Given the description of an element on the screen output the (x, y) to click on. 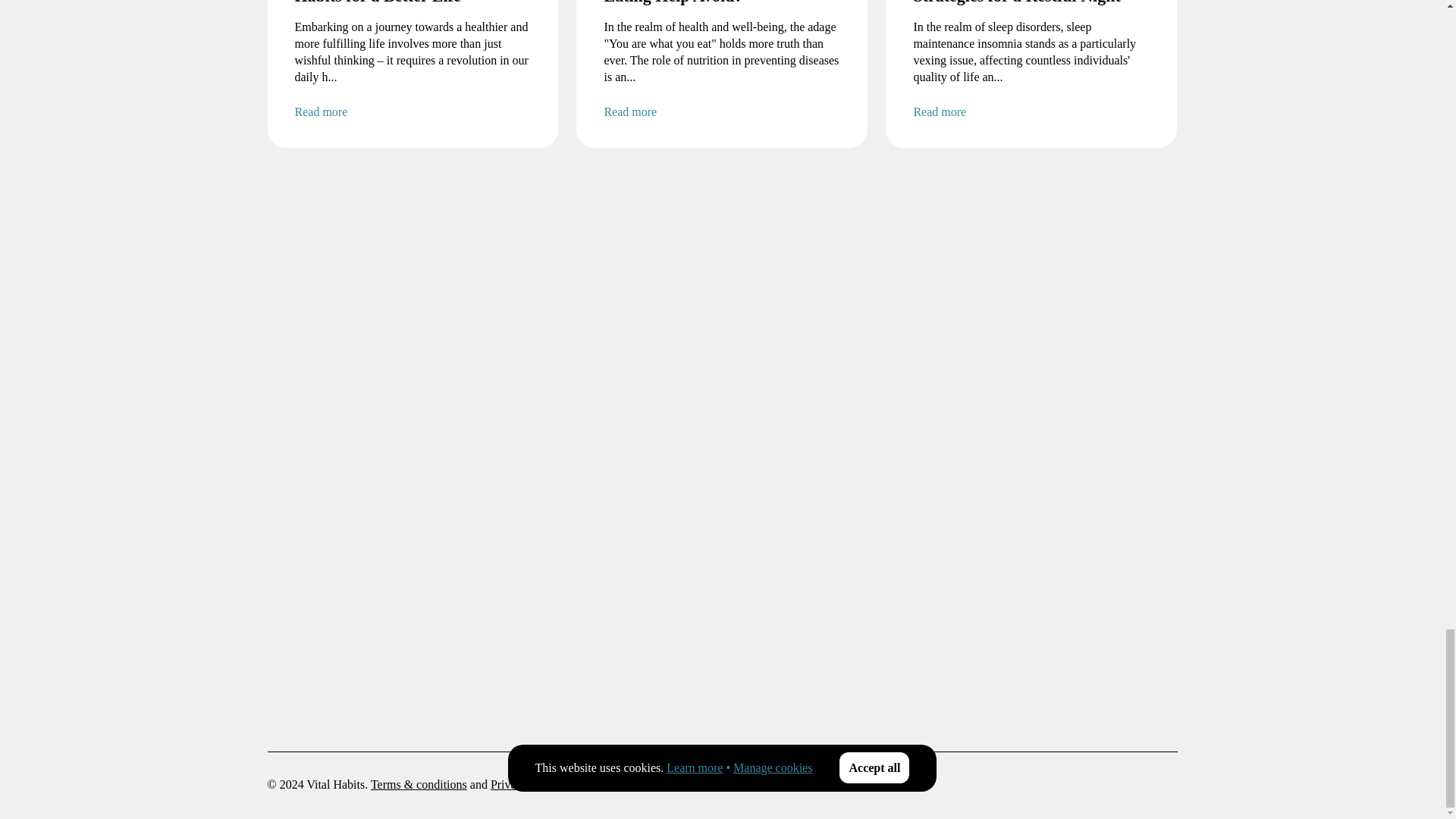
Lifestyle Revolution: 10 Good Habits for a Better Life (412, 3)
Read more (412, 112)
